Given the description of an element on the screen output the (x, y) to click on. 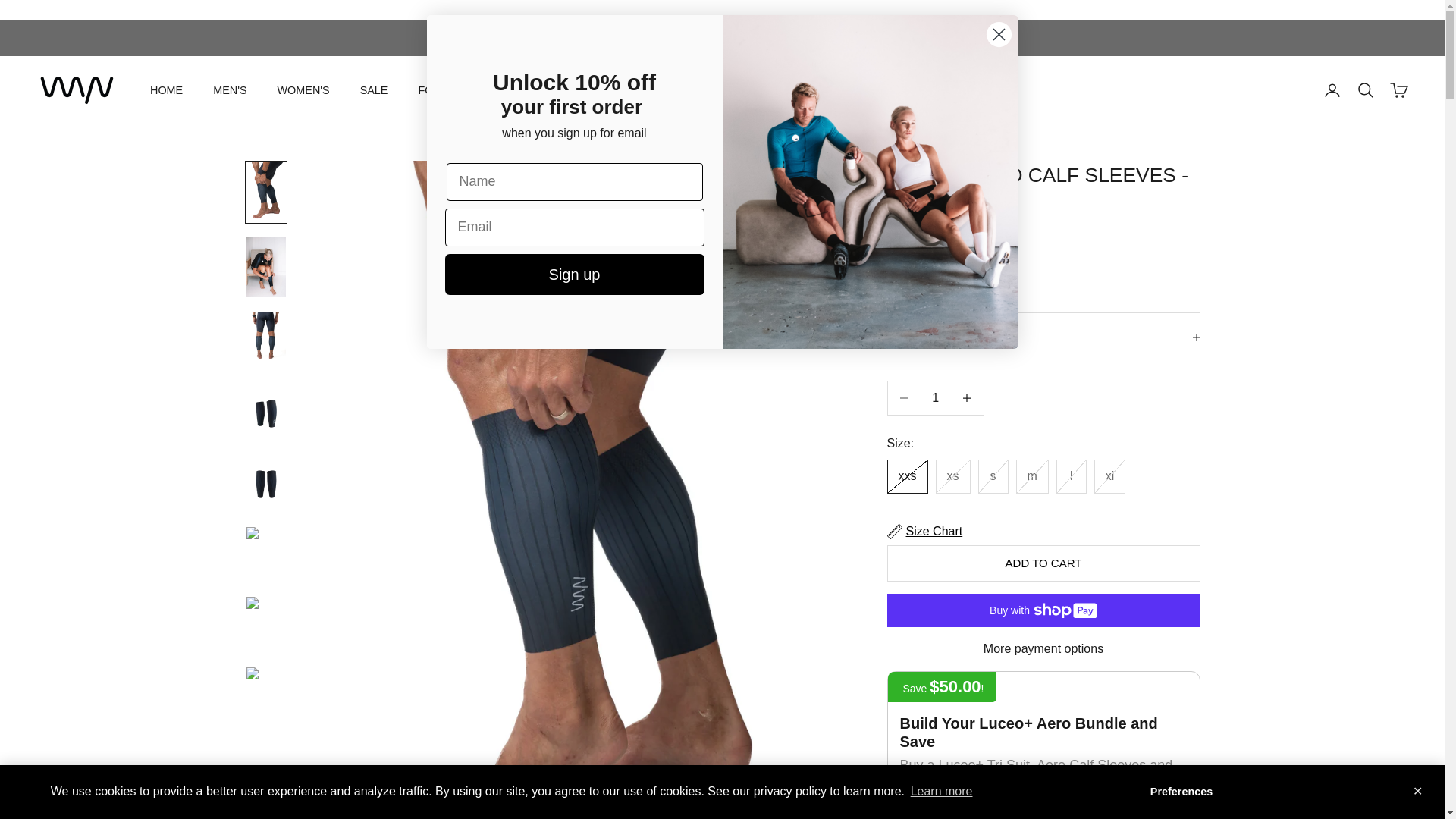
Continue (1261, 791)
WYN republic (77, 89)
HOME (166, 90)
Decline (1371, 791)
1 (935, 397)
Learn more (940, 791)
Preferences (1181, 791)
Ok (1318, 791)
